Given the description of an element on the screen output the (x, y) to click on. 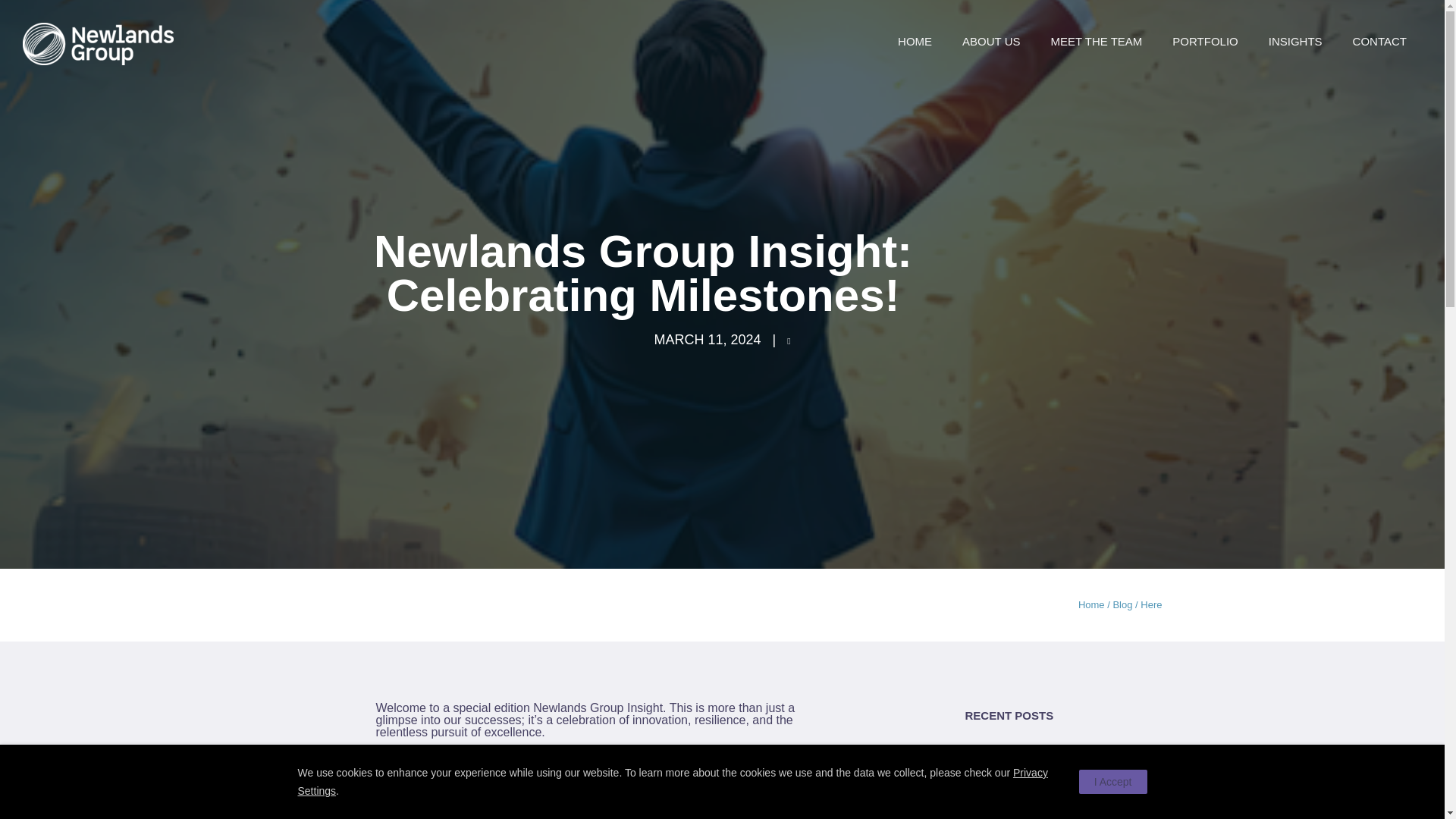
Insights (1295, 41)
MEET THE TEAM (1096, 41)
About Us (991, 41)
Portfolio (1204, 41)
Contact (1380, 41)
PORTFOLIO (1204, 41)
CONTACT (1380, 41)
HOME (914, 41)
INSIGHTS (1295, 41)
Blog (1122, 604)
